Given the description of an element on the screen output the (x, y) to click on. 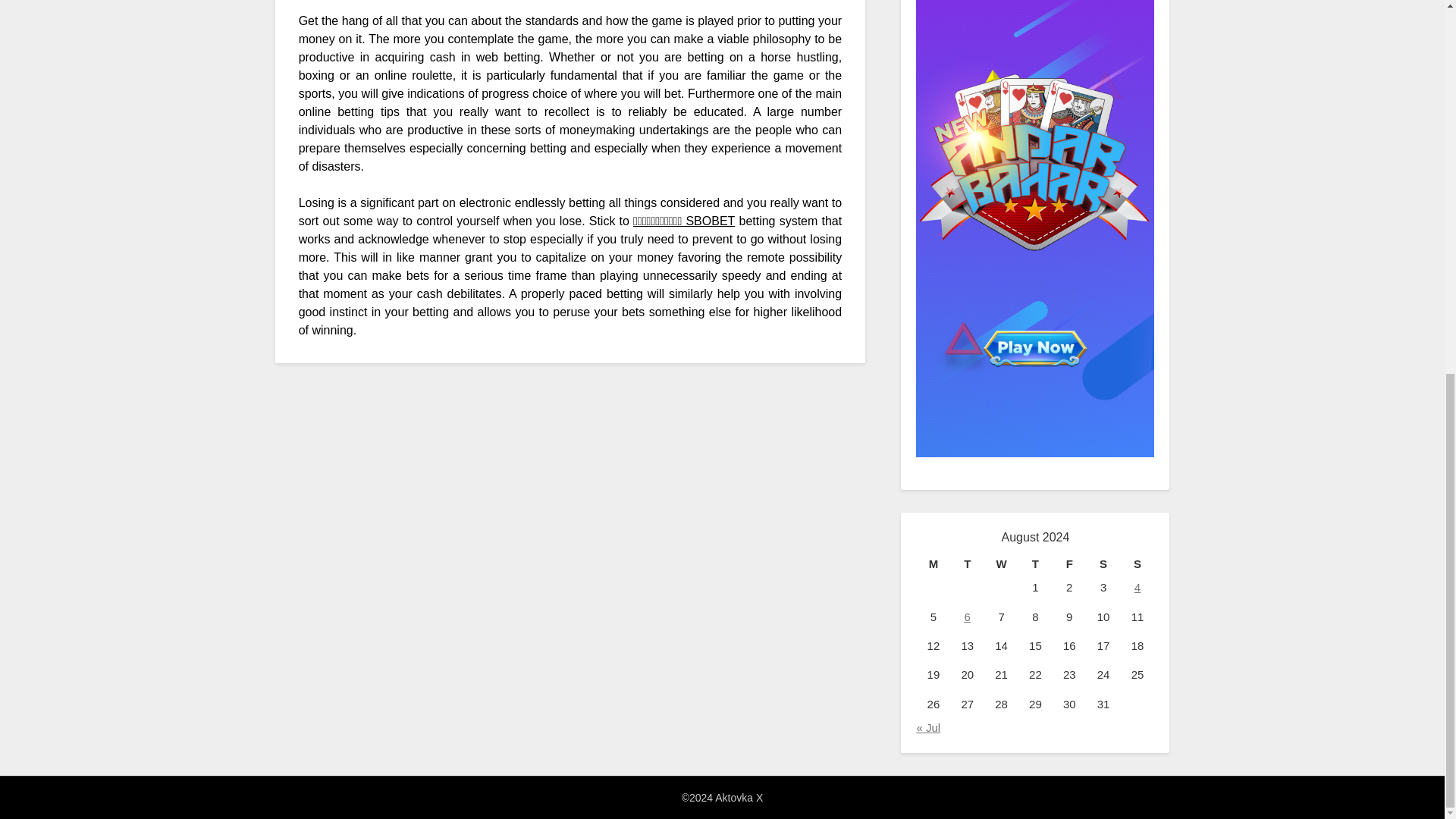
Wednesday (1000, 564)
Friday (1069, 564)
Sunday (1137, 564)
Saturday (1103, 564)
Thursday (1034, 564)
Monday (932, 564)
Tuesday (967, 564)
